Given the description of an element on the screen output the (x, y) to click on. 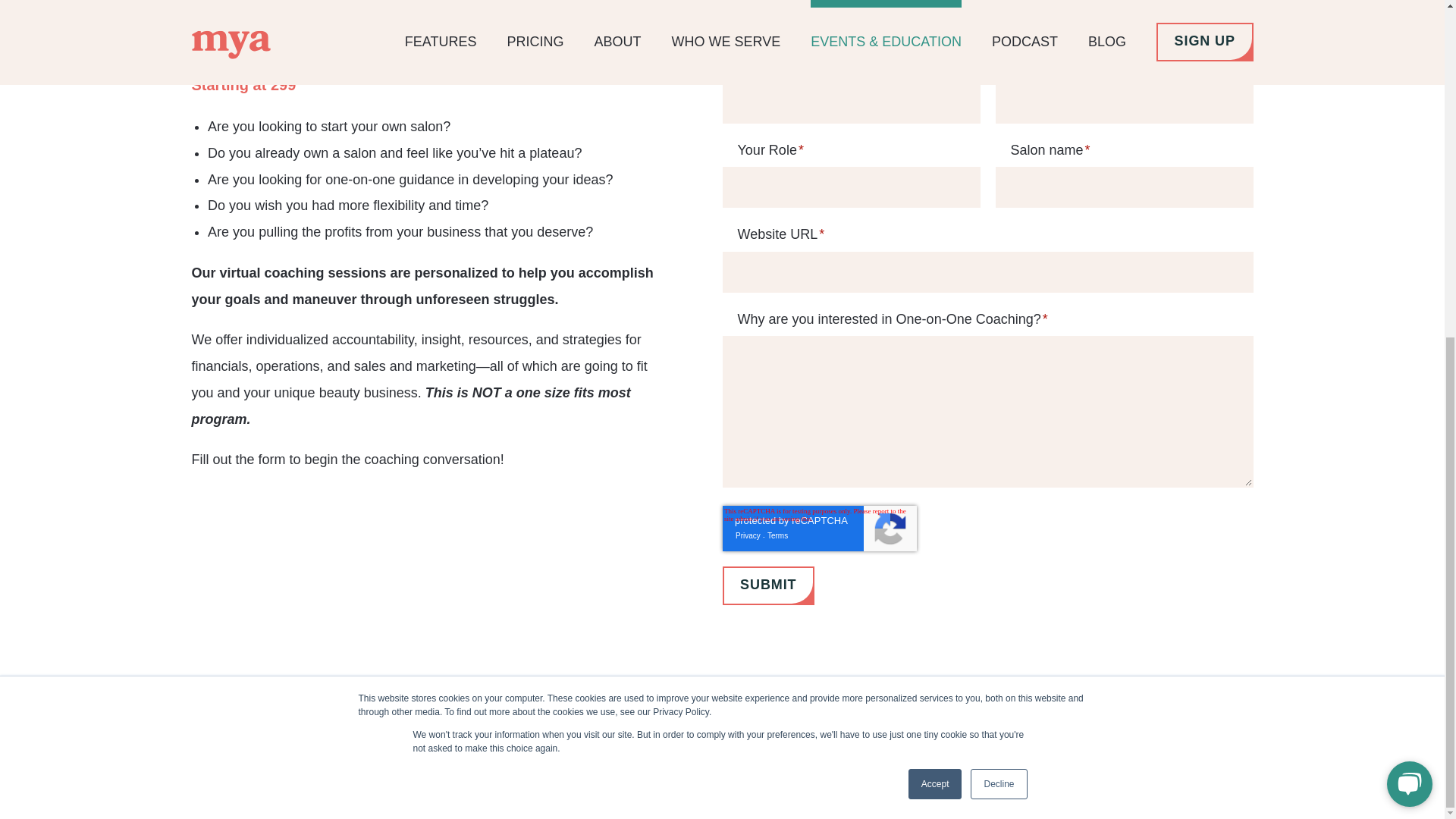
Get Started (1066, 733)
Decline (998, 215)
reCAPTCHA (818, 528)
Accept (935, 215)
